Given the description of an element on the screen output the (x, y) to click on. 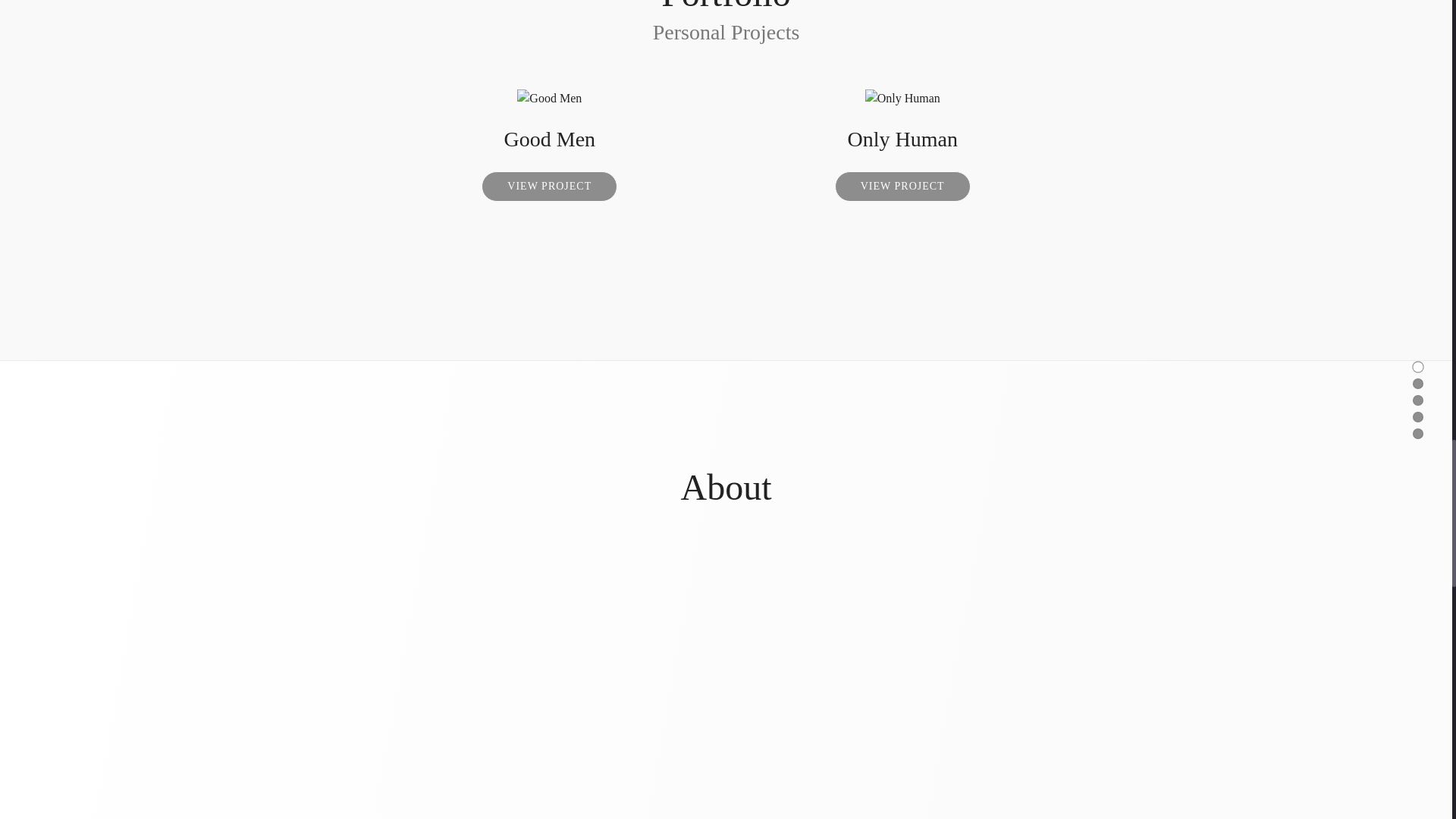
Good Men (549, 138)
